Given the description of an element on the screen output the (x, y) to click on. 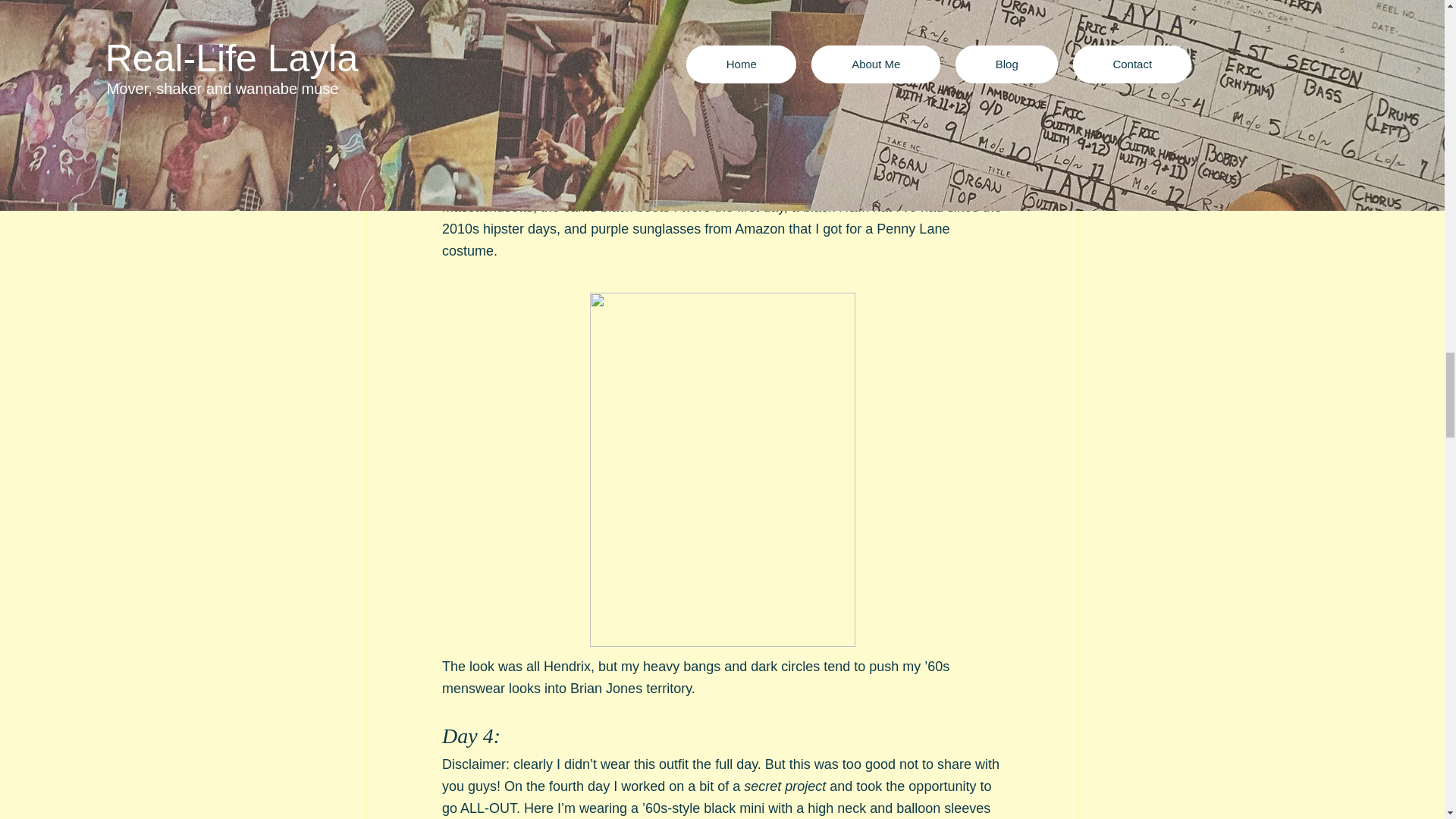
Boogie Child (630, 97)
